Given the description of an element on the screen output the (x, y) to click on. 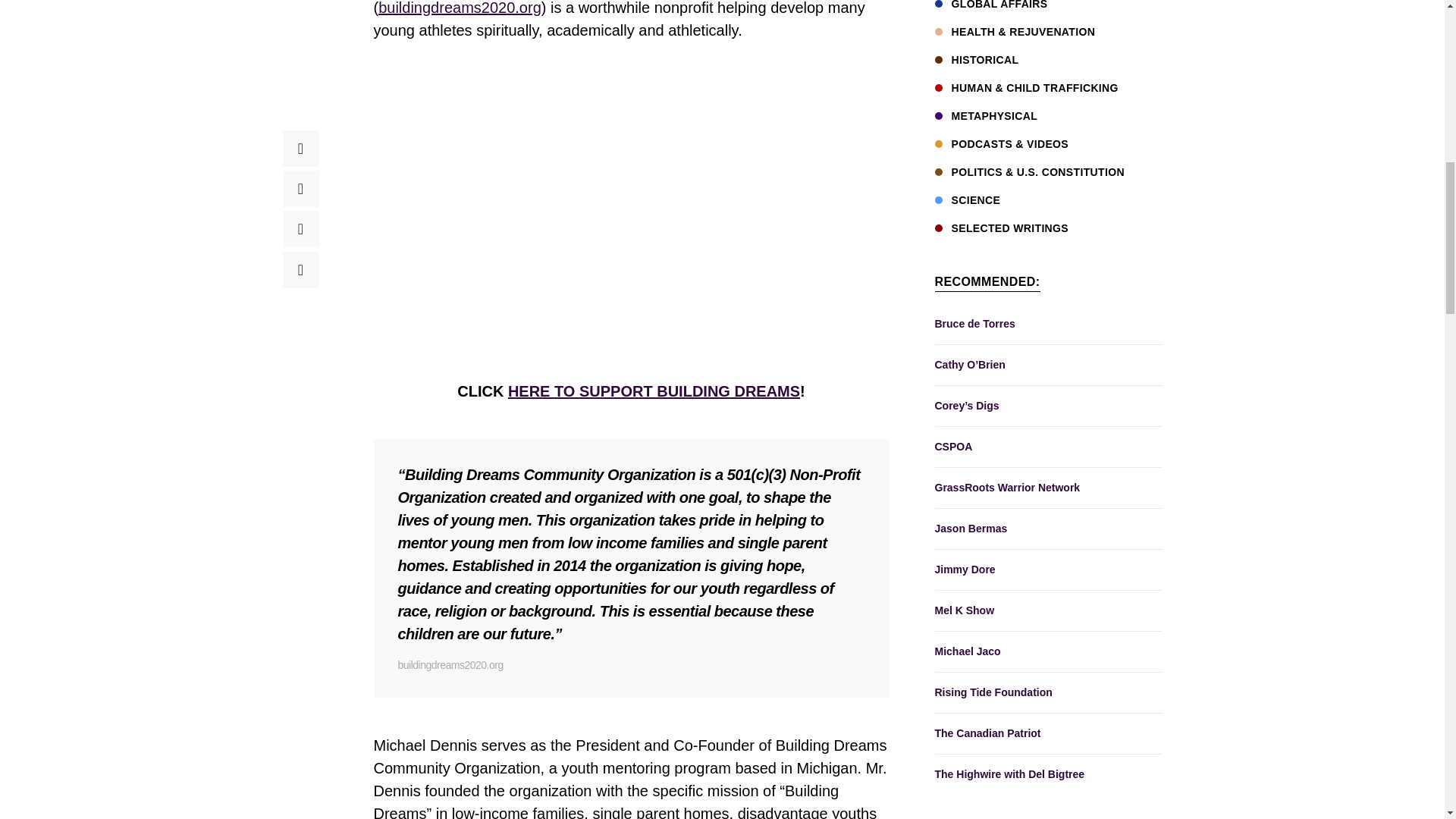
Constitutional Sheriffs and Peace Officers Association (1047, 267)
